Given the description of an element on the screen output the (x, y) to click on. 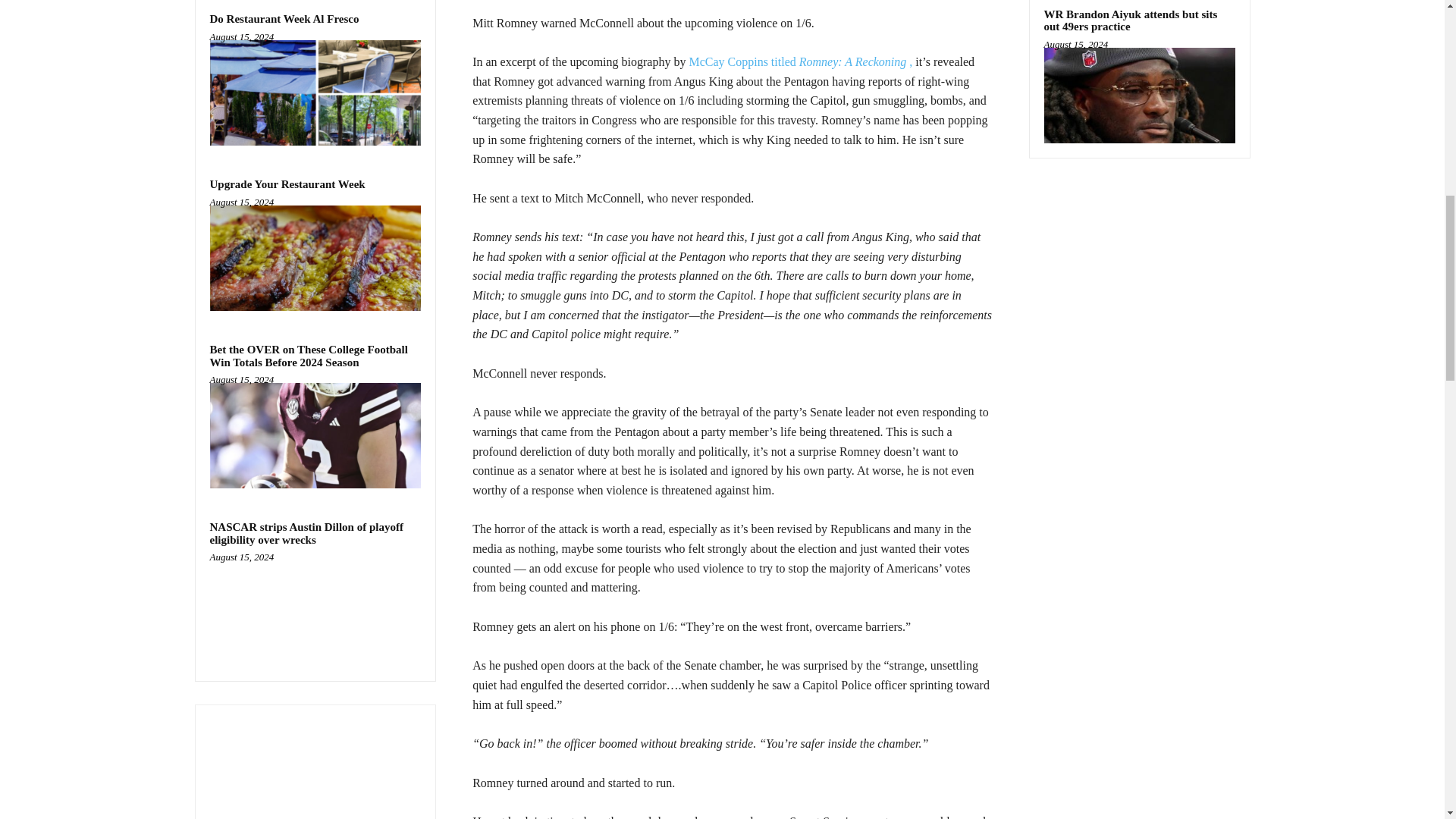
Upgrade Your Restaurant Week (287, 184)
Upgrade Your Restaurant Week (287, 184)
Do Restaurant Week Al Fresco (314, 92)
Upgrade Your Restaurant Week (314, 258)
Do Restaurant Week Al Fresco (283, 19)
Do Restaurant Week Al Fresco (283, 19)
